Given the description of an element on the screen output the (x, y) to click on. 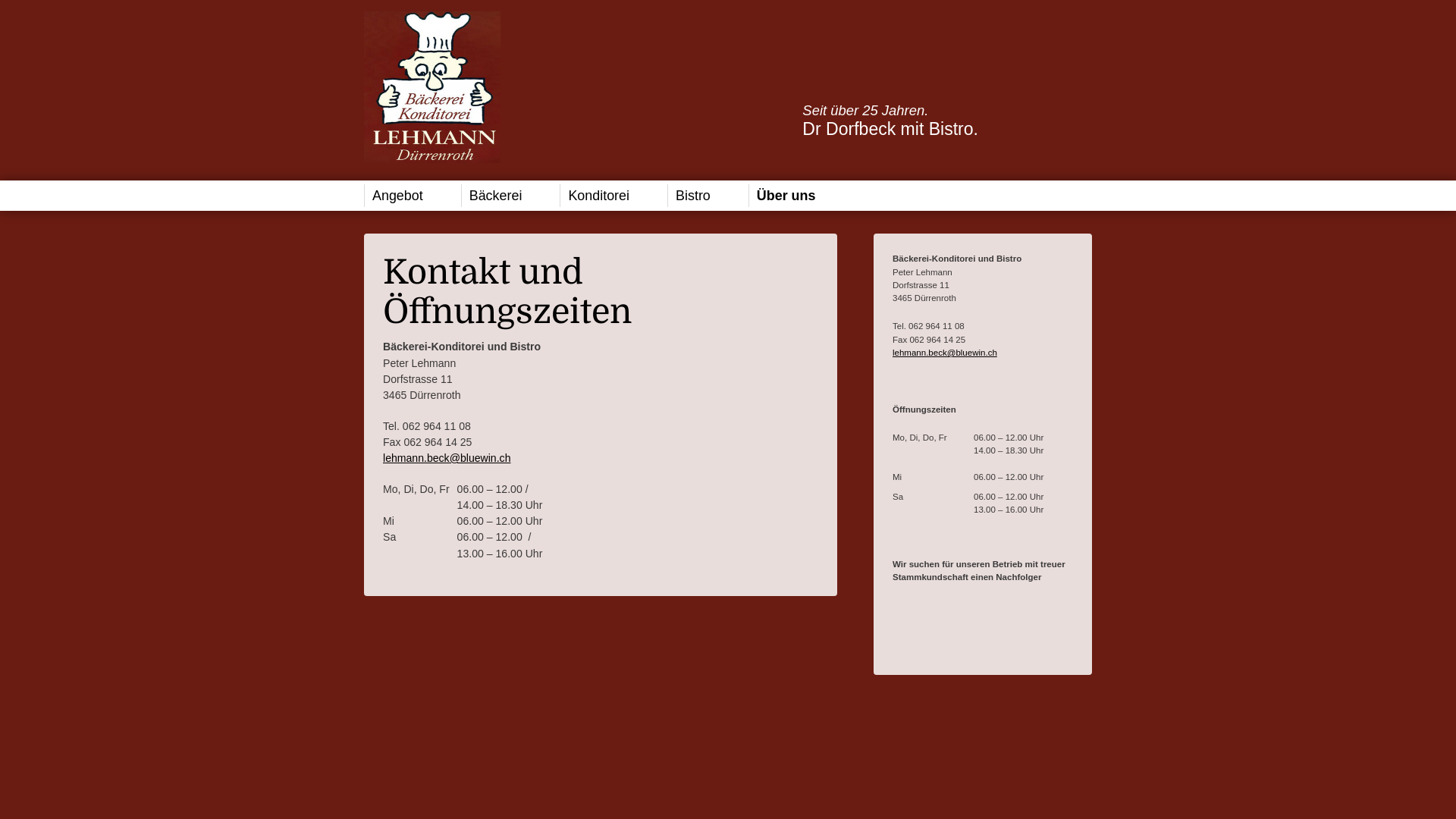
lehmann.beck@bluewin.ch Element type: text (446, 457)
lehmann.beck@bluewin.ch Element type: text (944, 352)
Bistro Element type: text (708, 195)
Konditorei Element type: text (613, 195)
